Given the description of an element on the screen output the (x, y) to click on. 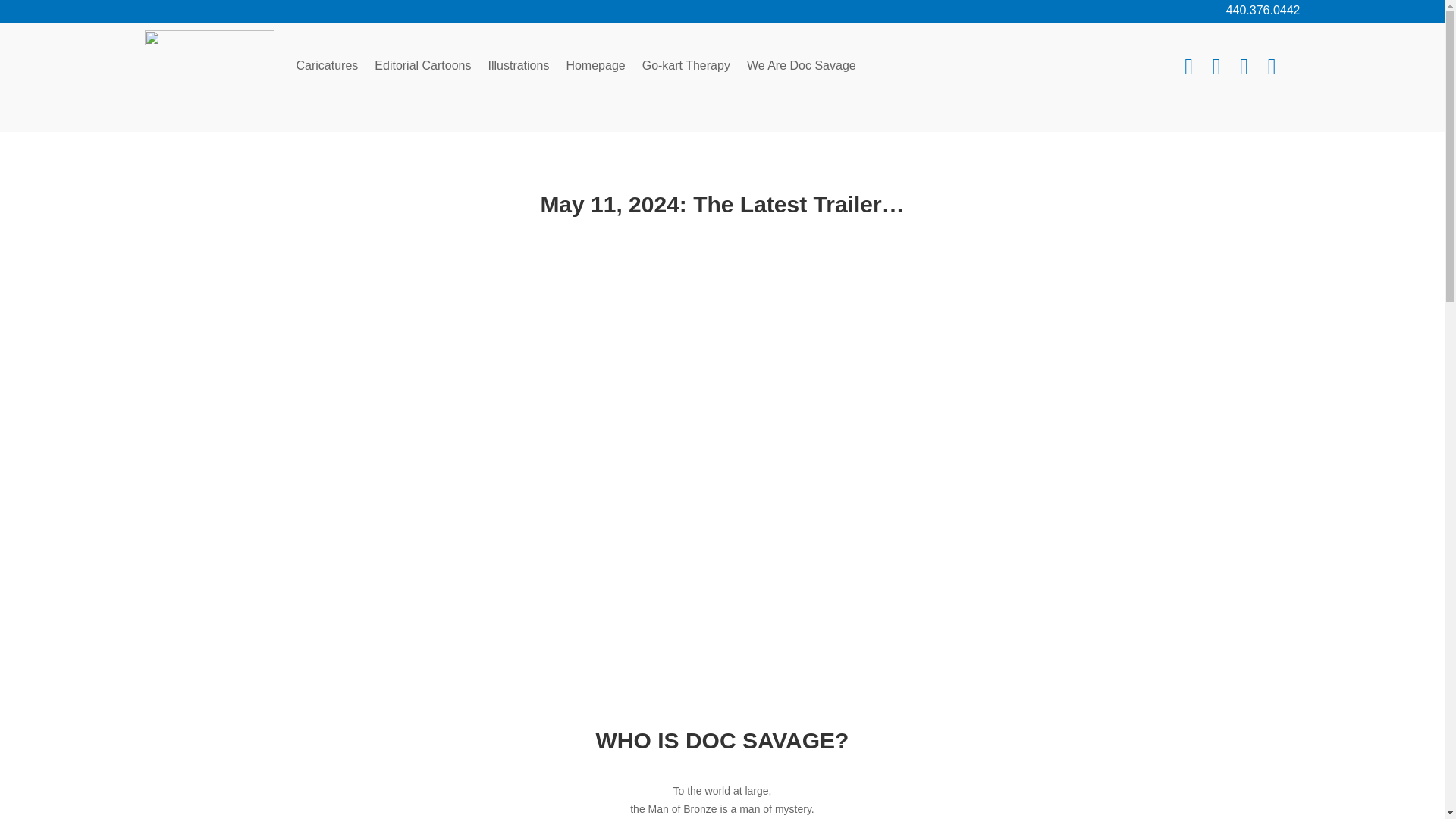
Homepage (595, 65)
Go-kart Therapy (686, 65)
Editorial Cartoons (422, 65)
Caricatures (326, 65)
Illustrations (517, 65)
We Are Doc Savage (801, 65)
